Given the description of an element on the screen output the (x, y) to click on. 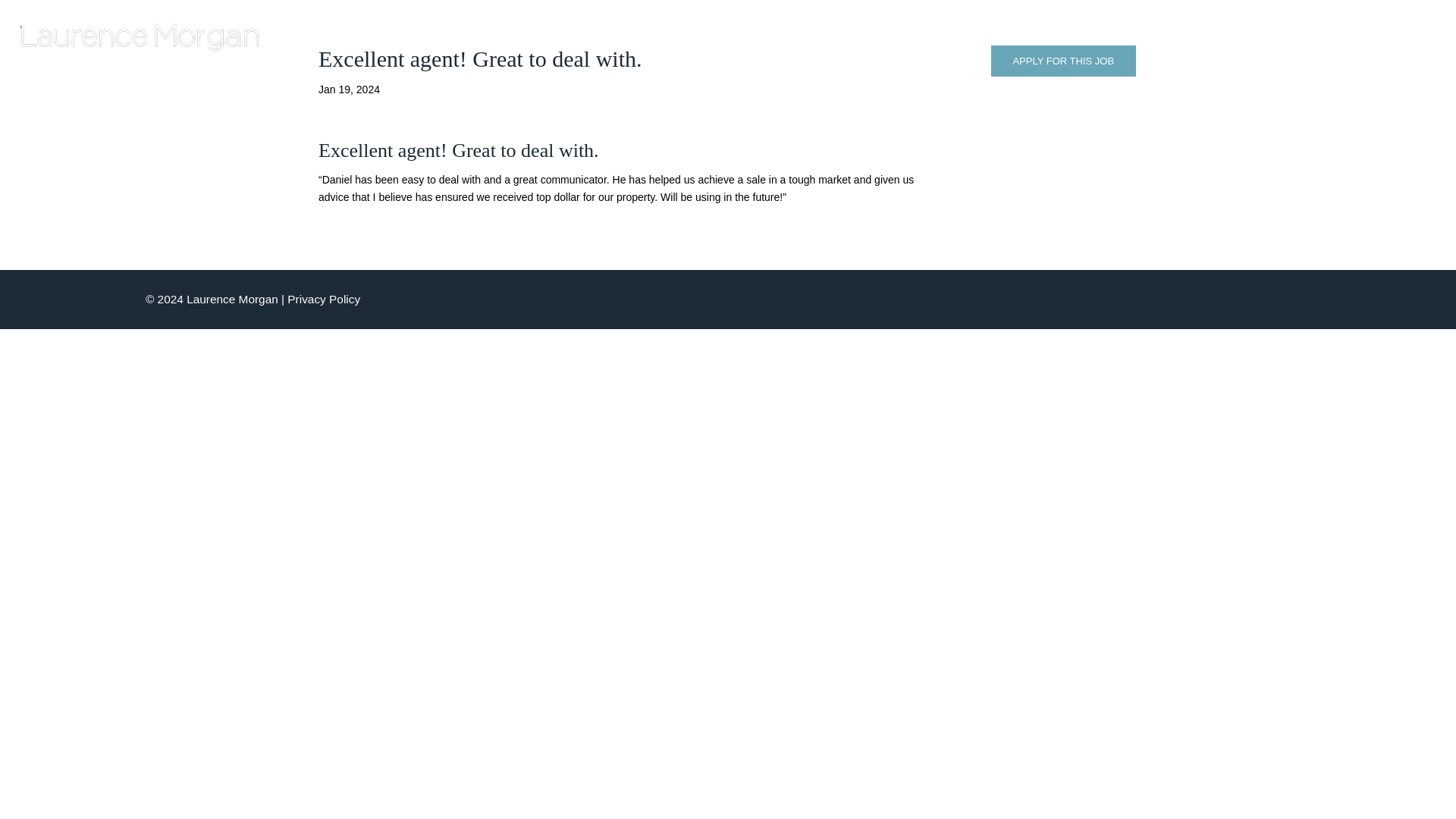
MANAGE (1157, 36)
